Given the description of an element on the screen output the (x, y) to click on. 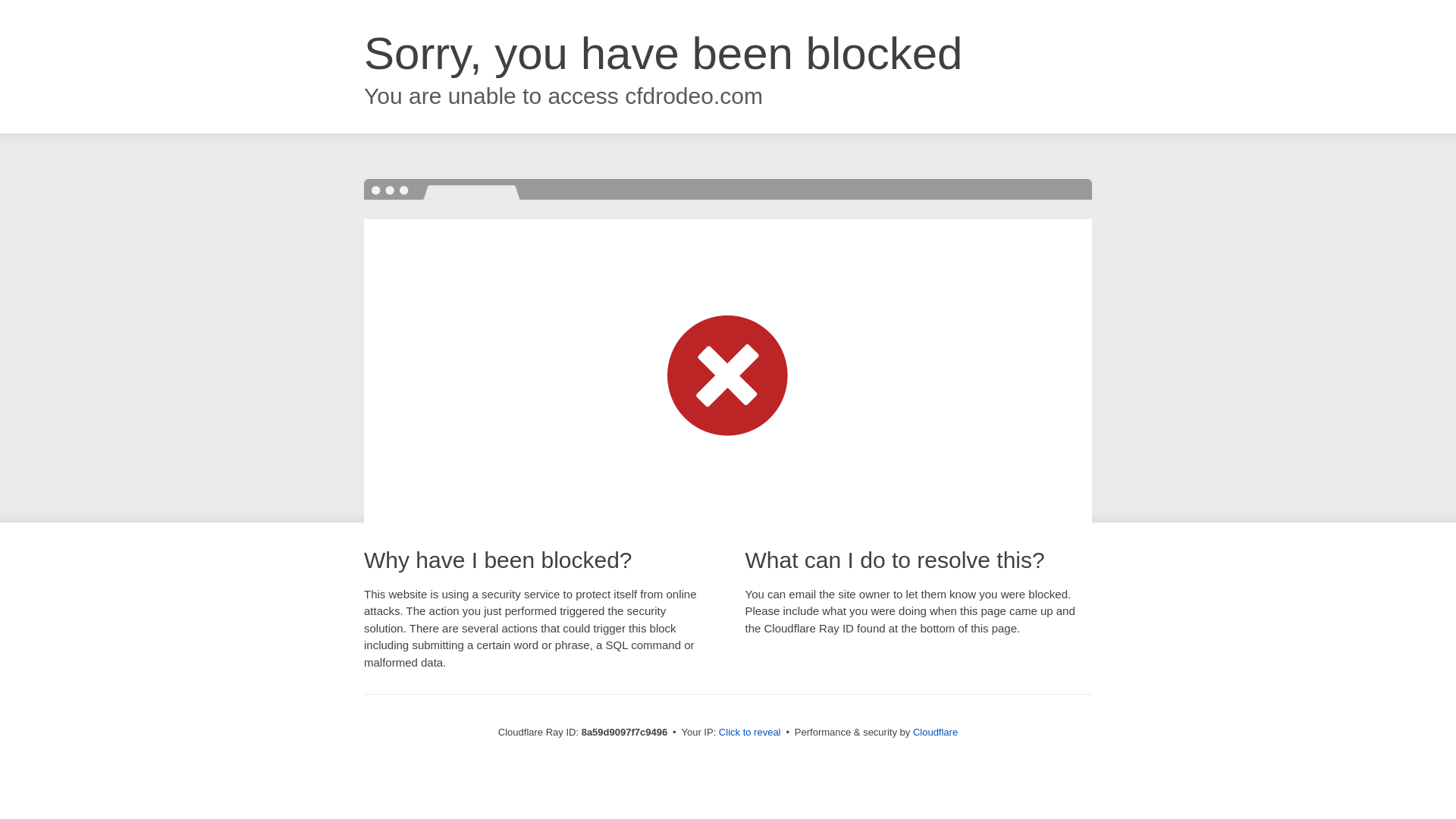
Cloudflare (935, 731)
Click to reveal (749, 732)
